Given the description of an element on the screen output the (x, y) to click on. 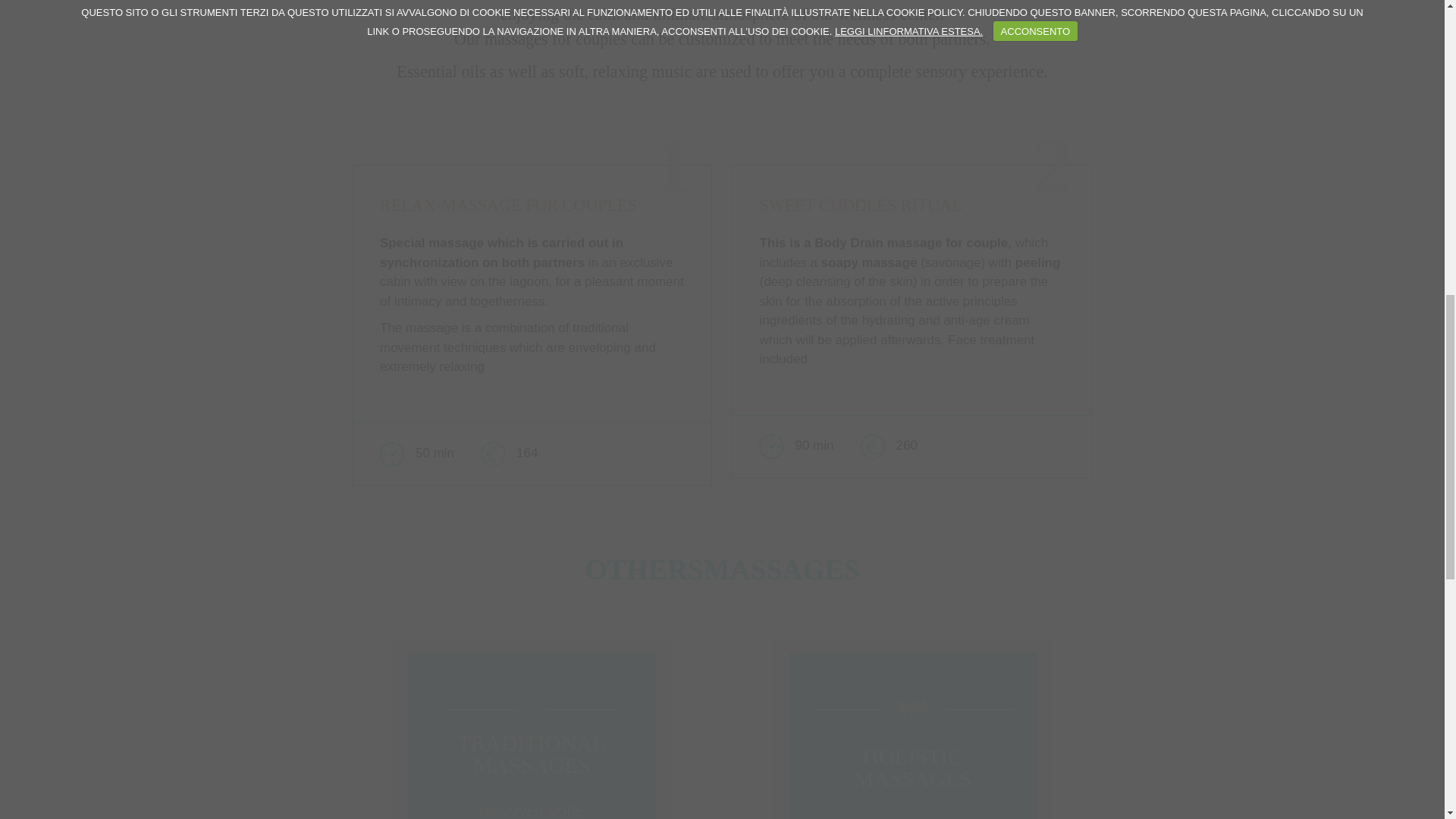
DISCOVER MORE (911, 817)
DISCOVER MORE (531, 811)
